Given the description of an element on the screen output the (x, y) to click on. 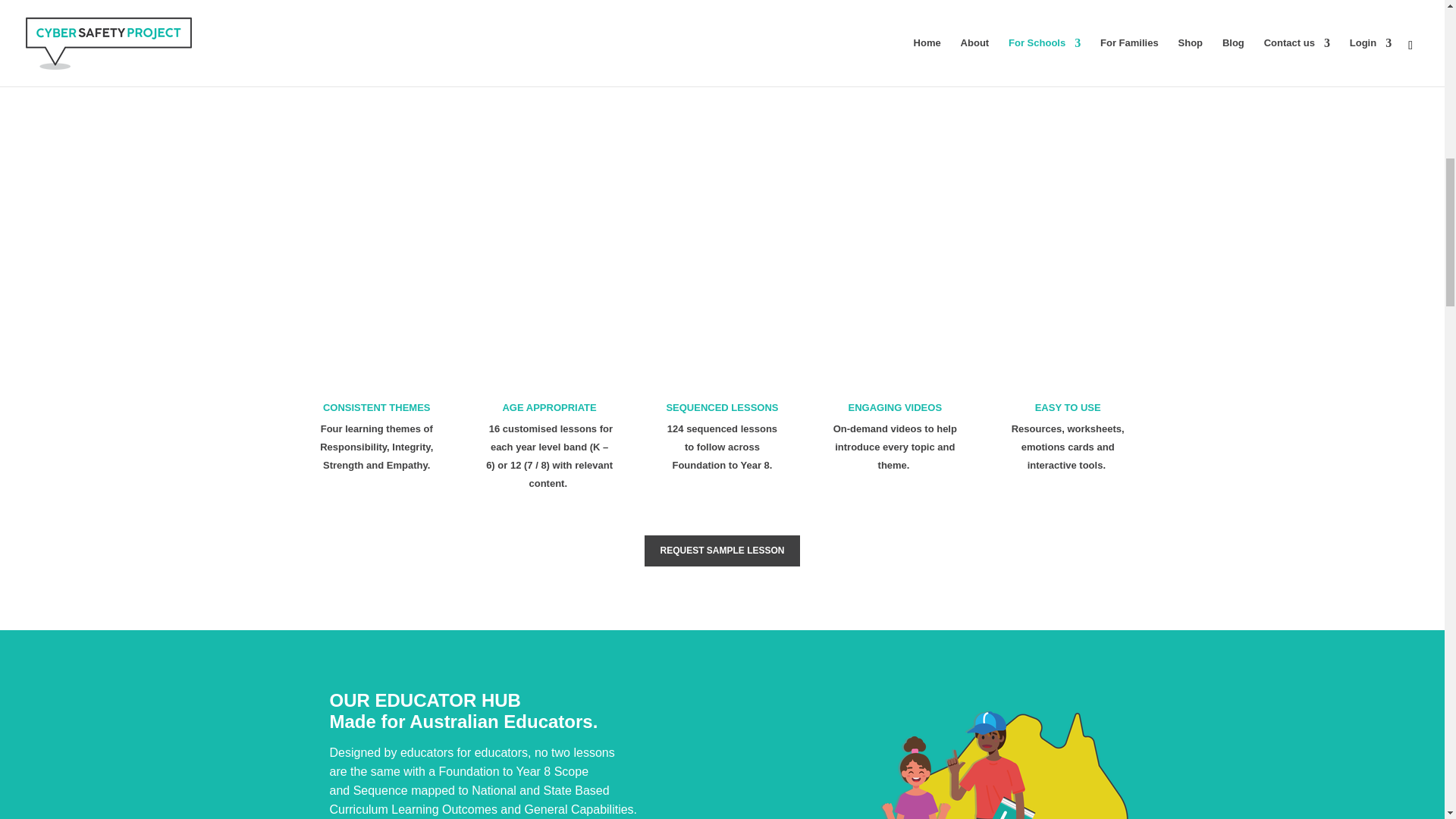
aus-illustration-02 (1000, 755)
